Given the description of an element on the screen output the (x, y) to click on. 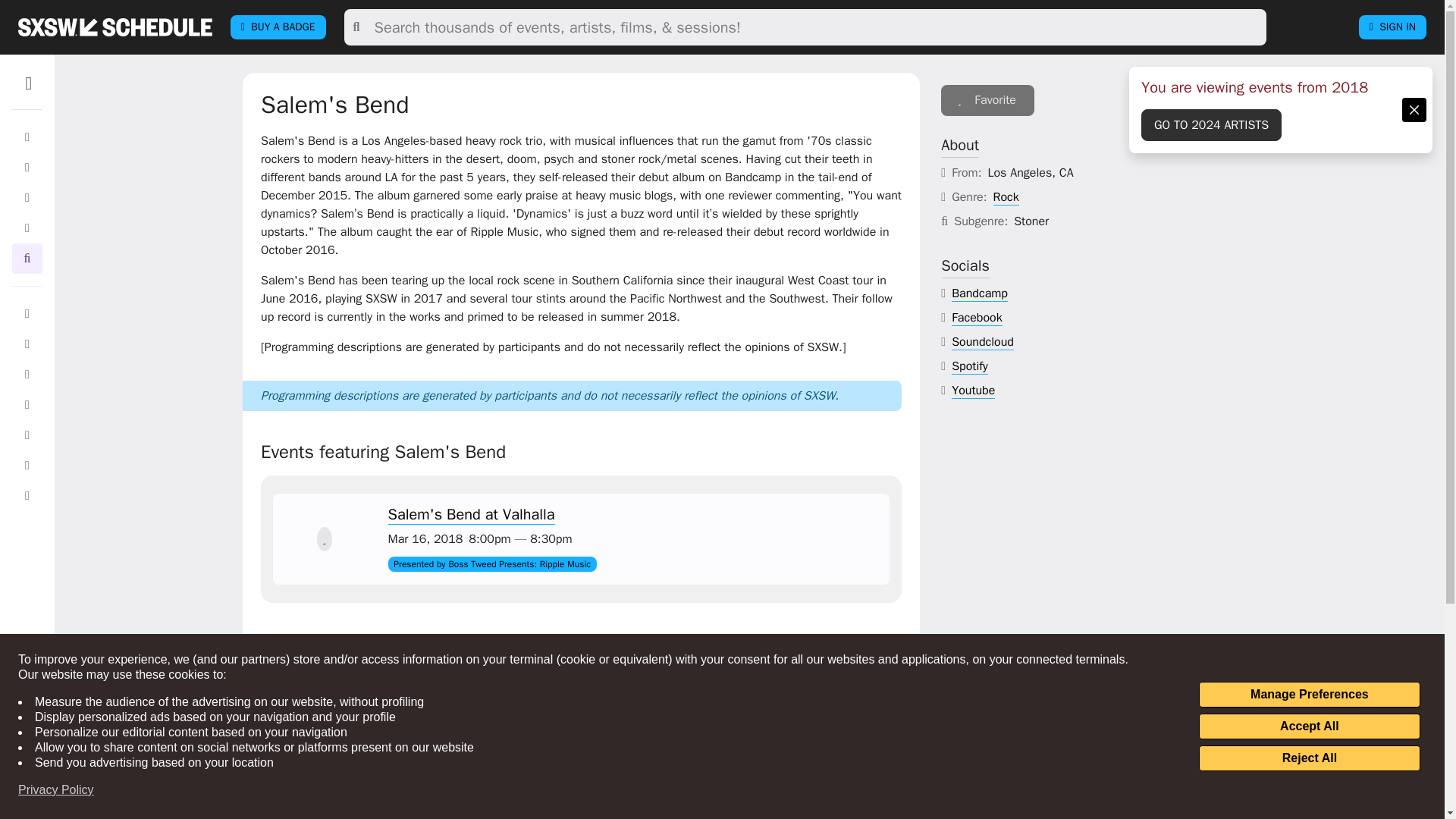
soundcloud (982, 342)
bandcamp (979, 293)
Manage Preferences (1309, 694)
GO TO 2024 ARTISTS (1211, 124)
facebook (976, 317)
BUY A BADGE (278, 27)
Sign In to add to your favorites. (986, 100)
Accept All (1309, 726)
Reject All (1309, 758)
sxsw SCHEDULE (114, 27)
